Given the description of an element on the screen output the (x, y) to click on. 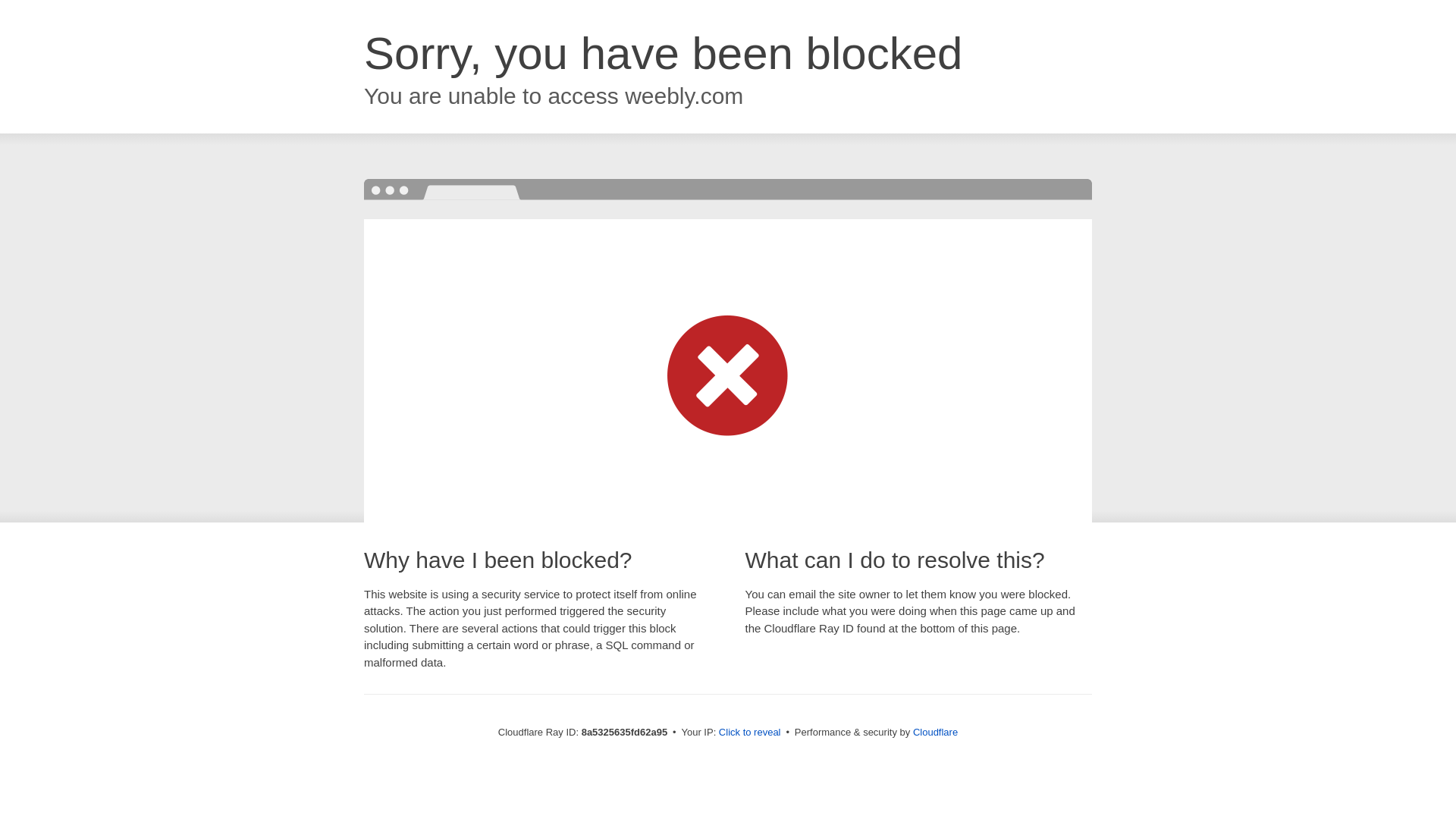
Click to reveal (749, 732)
Cloudflare (935, 731)
